Given the description of an element on the screen output the (x, y) to click on. 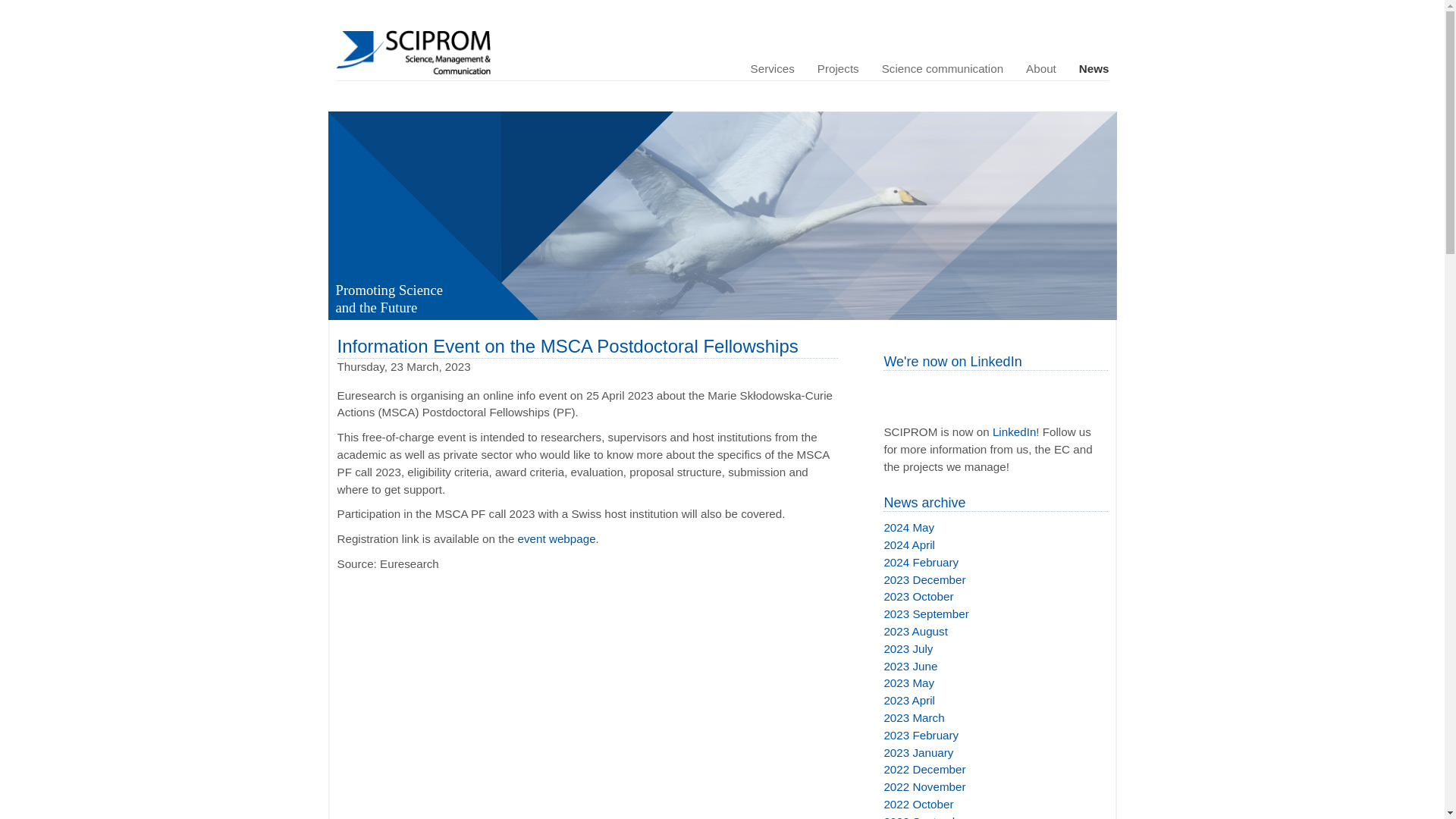
Science communication (942, 68)
2023 August (994, 631)
2024 April (994, 545)
Services (772, 68)
LinkedIn (1013, 431)
Projects (838, 68)
2023 March (994, 718)
2022 December (994, 769)
event webpage (556, 538)
2023 April (994, 701)
